Given the description of an element on the screen output the (x, y) to click on. 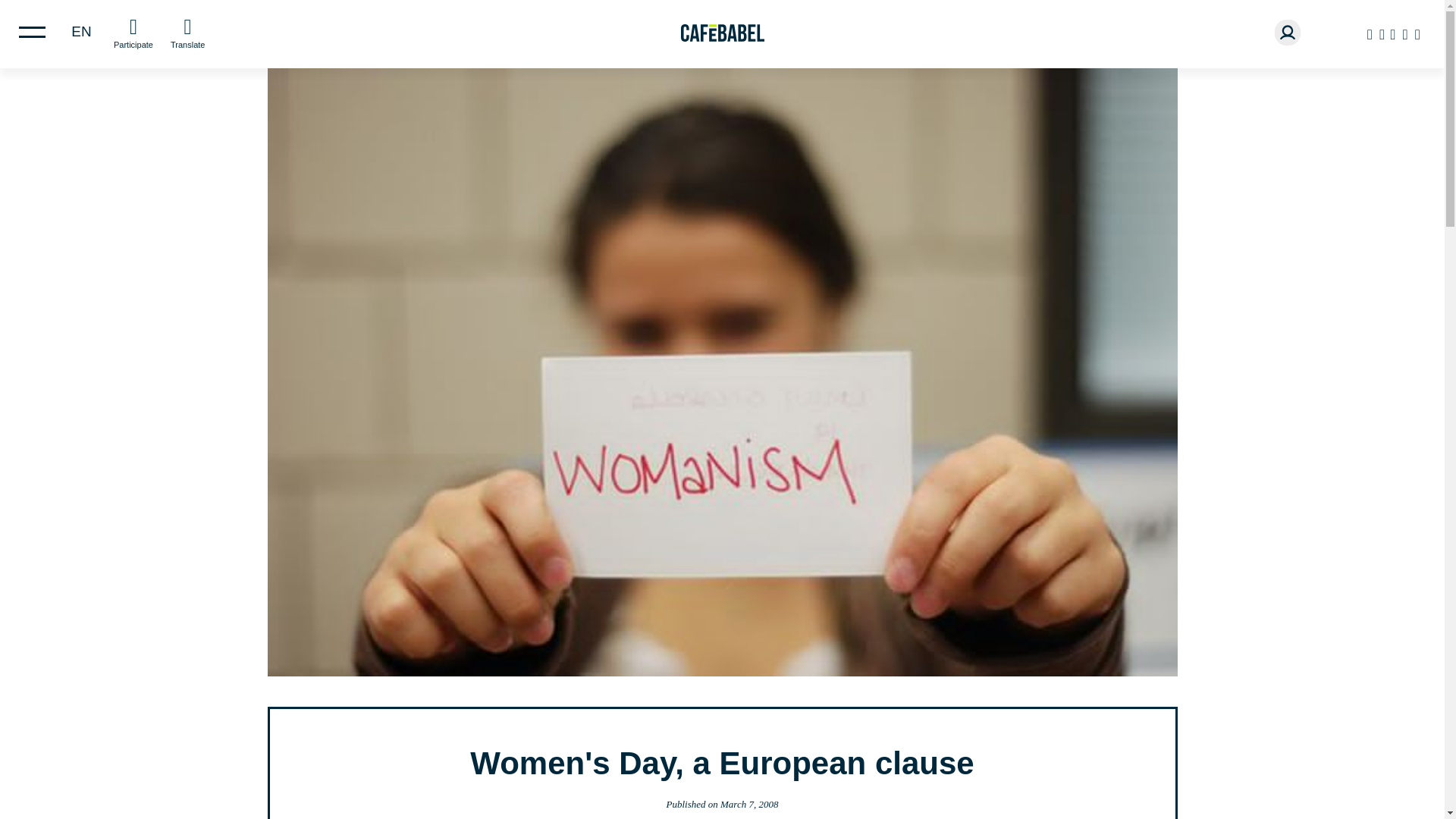
Participate (132, 31)
Participate (132, 31)
